Given the description of an element on the screen output the (x, y) to click on. 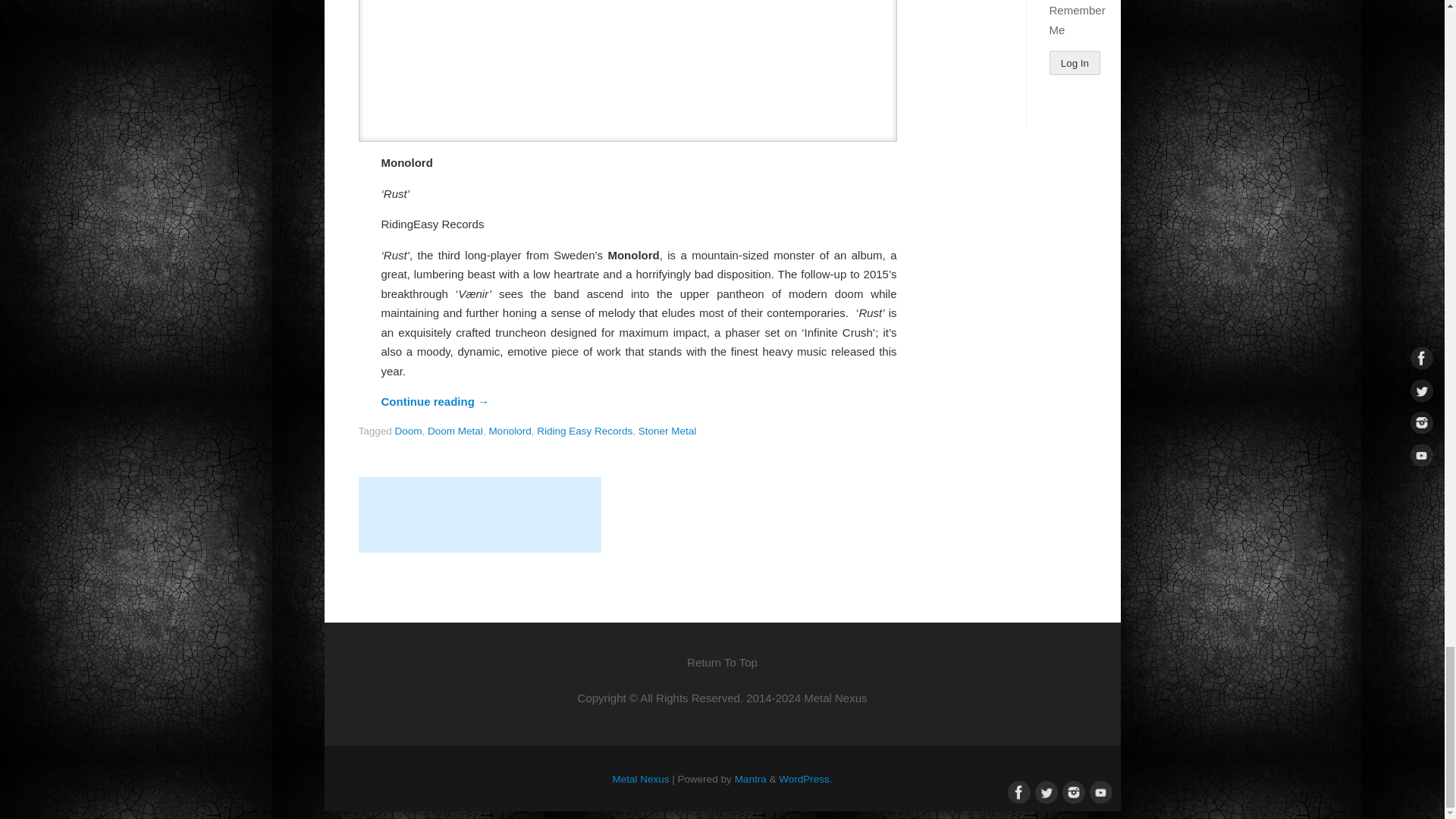
Log In (1074, 62)
